Given the description of an element on the screen output the (x, y) to click on. 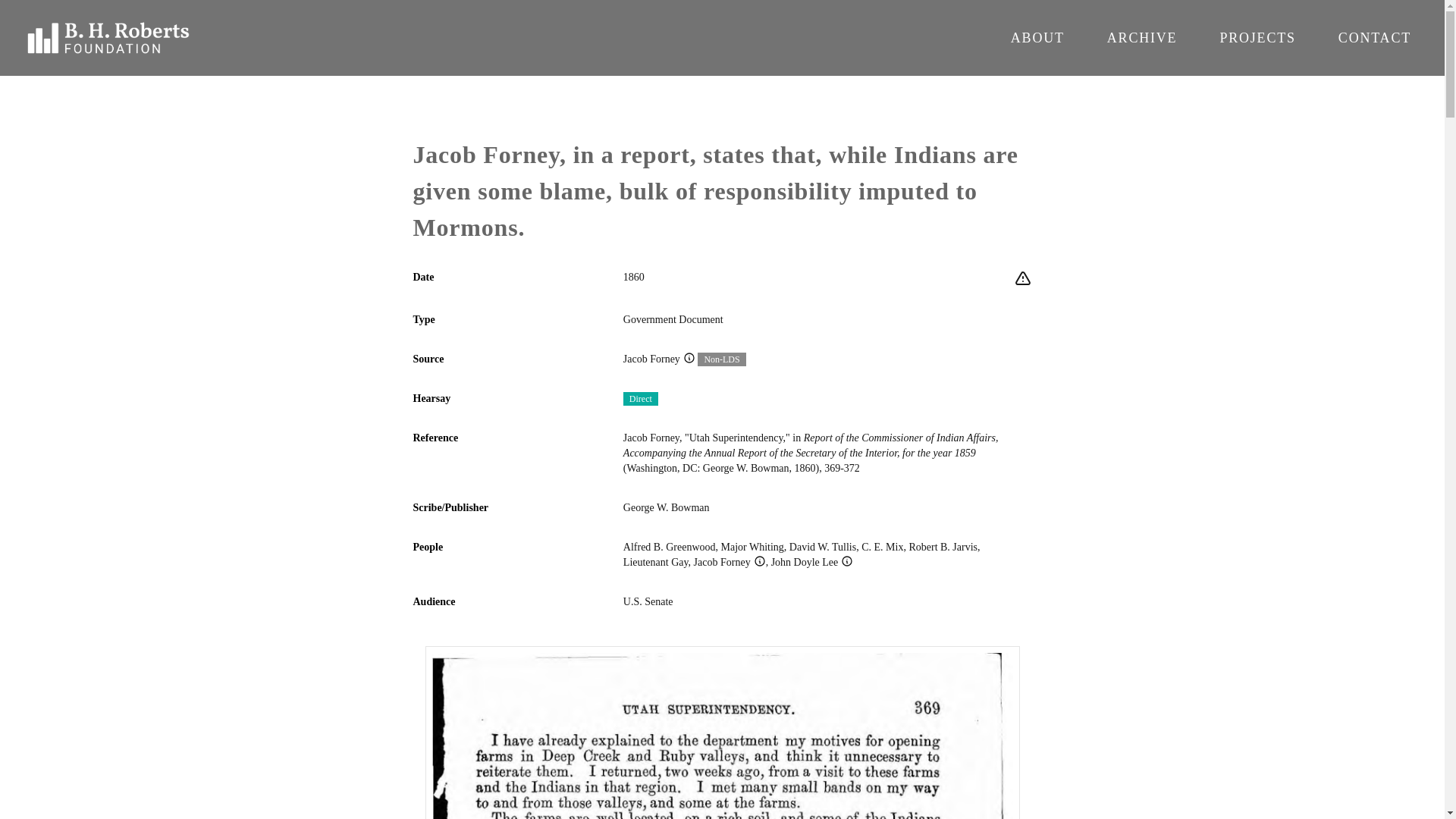
ABOUT (1037, 37)
Leave feedback on this record (1021, 279)
CONTACT (1375, 37)
ARCHIVE (1141, 37)
PROJECTS (1256, 37)
